Given the description of an element on the screen output the (x, y) to click on. 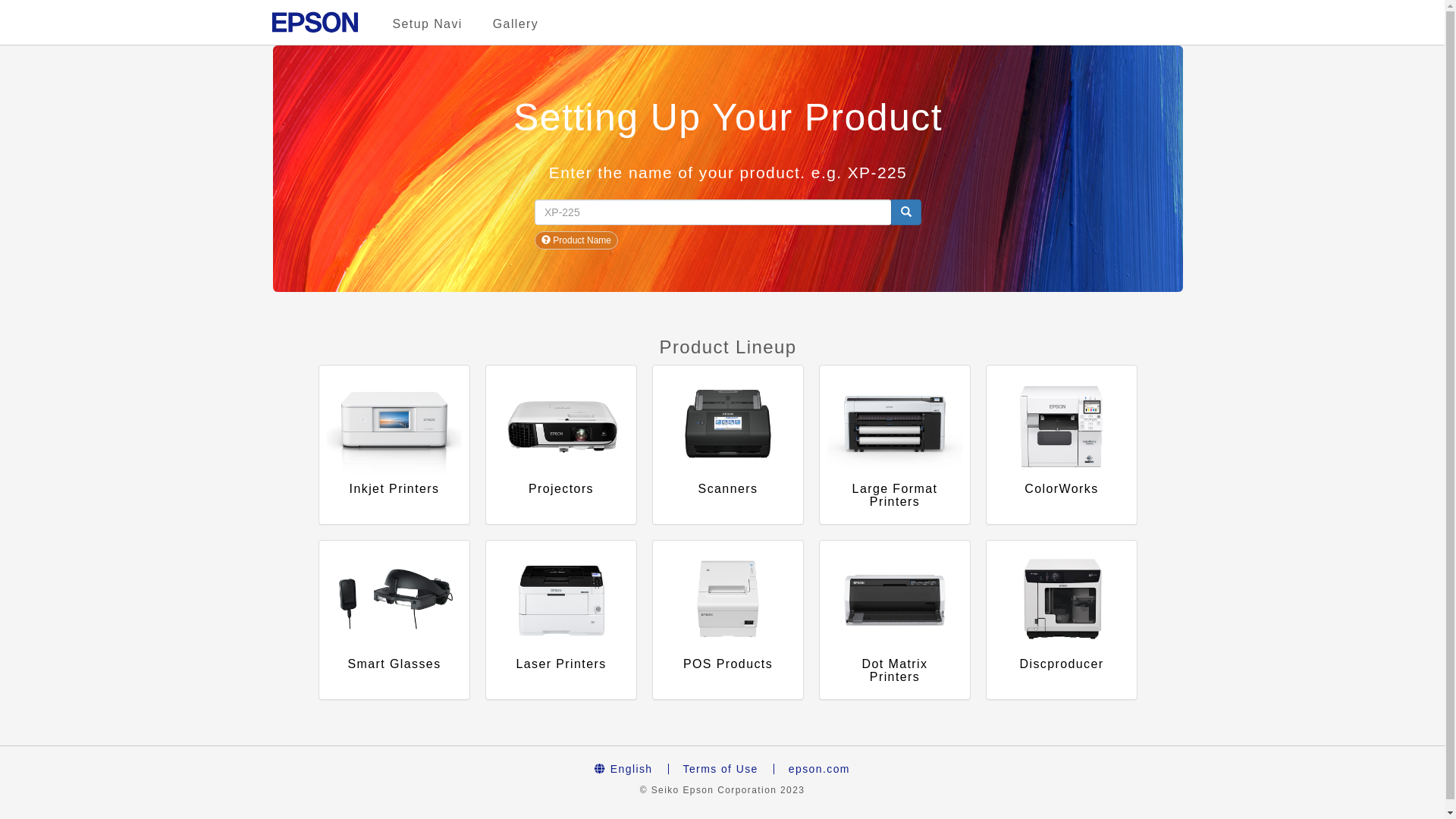
Scanners Element type: text (727, 444)
Product Name Element type: text (576, 240)
Large Format Printers Element type: text (894, 444)
Terms of Use Element type: text (720, 768)
ColorWorks Element type: text (1061, 444)
Discproducer Element type: text (1061, 619)
Smart Glasses Element type: text (394, 619)
Gallery Element type: text (515, 23)
Setup Navi Element type: text (427, 23)
Laser Printers Element type: text (561, 619)
English Element type: text (623, 768)
Dot Matrix Printers Element type: text (894, 619)
Inkjet Printers Element type: text (394, 444)
POS Products Element type: text (727, 619)
Projectors Element type: text (561, 444)
epson.com Element type: text (819, 768)
